Given the description of an element on the screen output the (x, y) to click on. 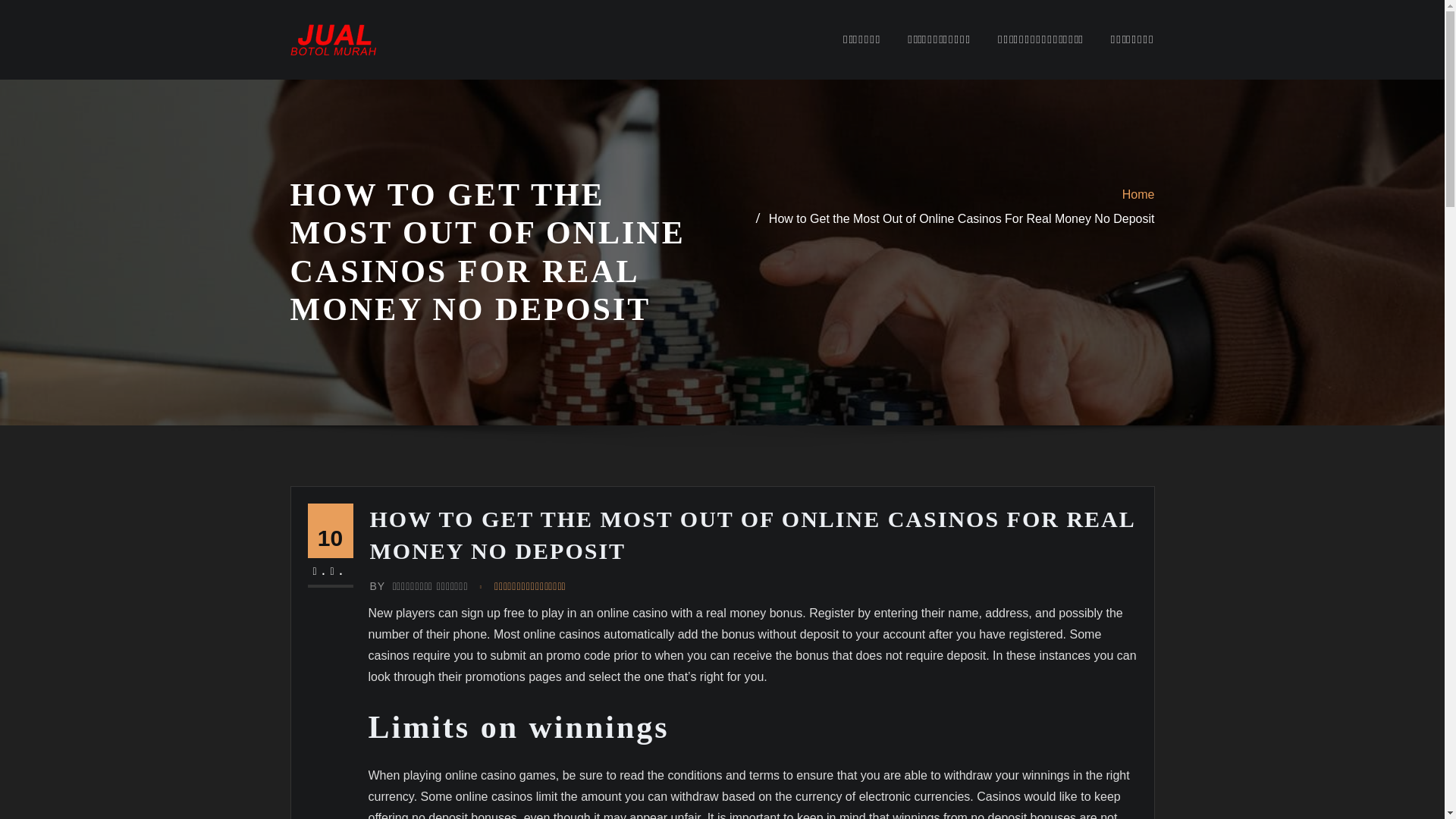
Home (1138, 194)
